Given the description of an element on the screen output the (x, y) to click on. 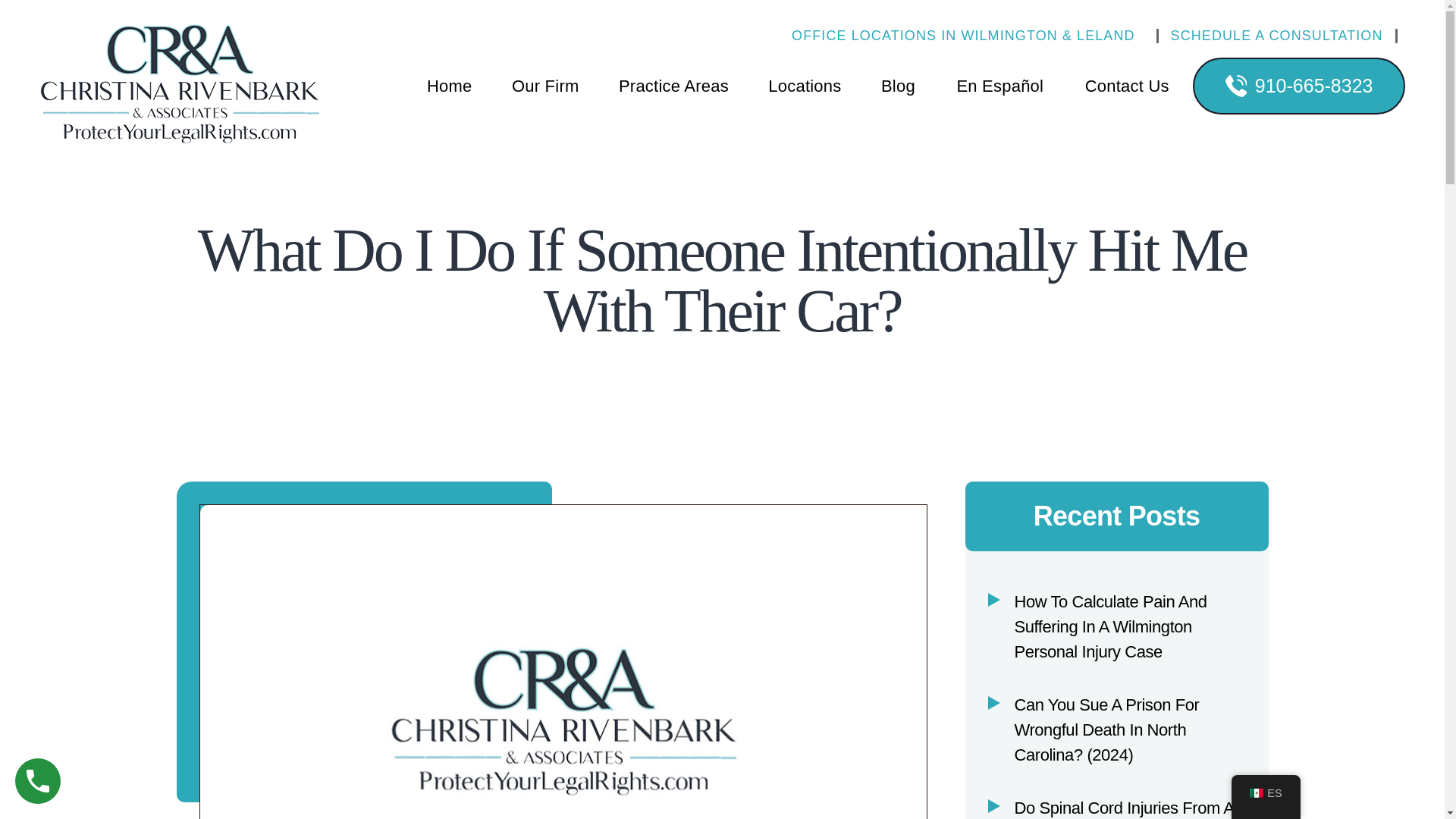
SCHEDULE A CONSULTATION (1276, 35)
Home (449, 85)
Practice Areas (672, 85)
Our Firm (544, 85)
